Given the description of an element on the screen output the (x, y) to click on. 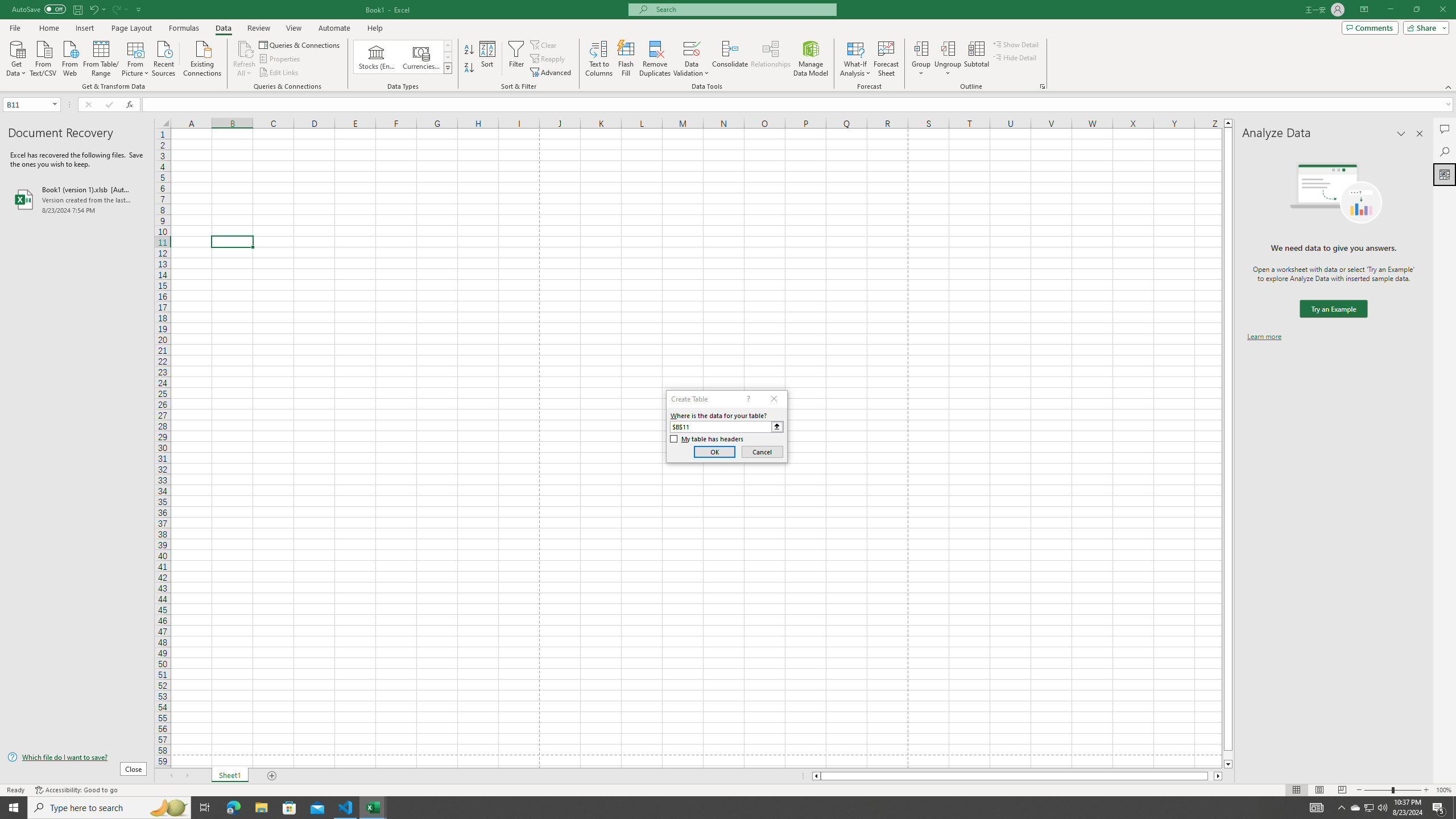
Consolidate... (729, 58)
Remove Duplicates (654, 58)
Edit Links (279, 72)
Sort A to Z (469, 49)
Recent Sources (163, 57)
Existing Connections (202, 57)
Manage Data Model (810, 58)
